Given the description of an element on the screen output the (x, y) to click on. 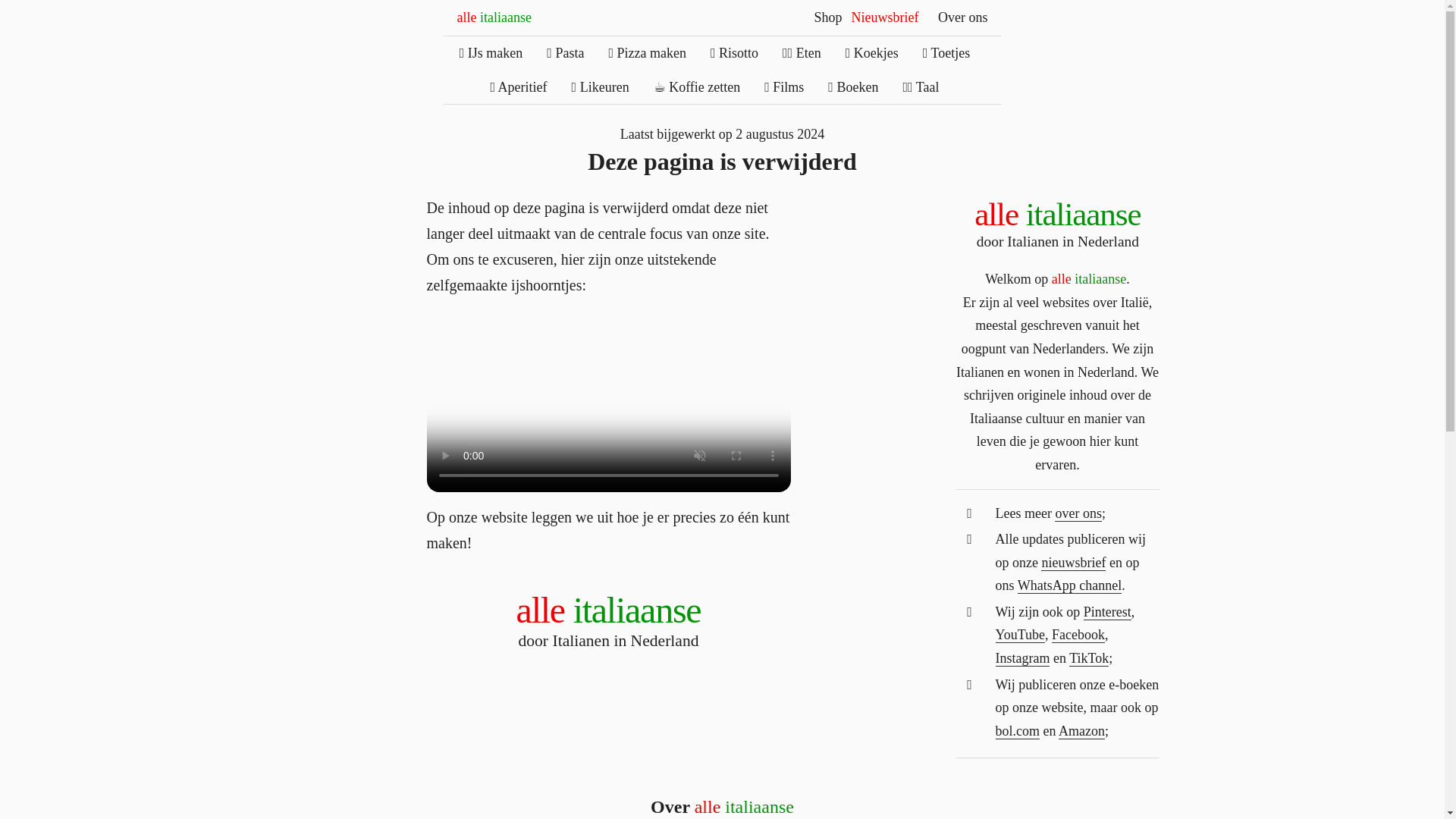
Newsletter - Alle Italiaanse (1073, 562)
Webwinkel van Alle Italiaanse (827, 17)
TikTok (1088, 658)
Zelf Italiaanse Pizza Maken (647, 53)
Italiaanse Pasta (734, 53)
Amazon (608, 622)
Over ons (1081, 731)
alle italiaanse (962, 17)
Italiaanse Likeuren (493, 17)
